Given the description of an element on the screen output the (x, y) to click on. 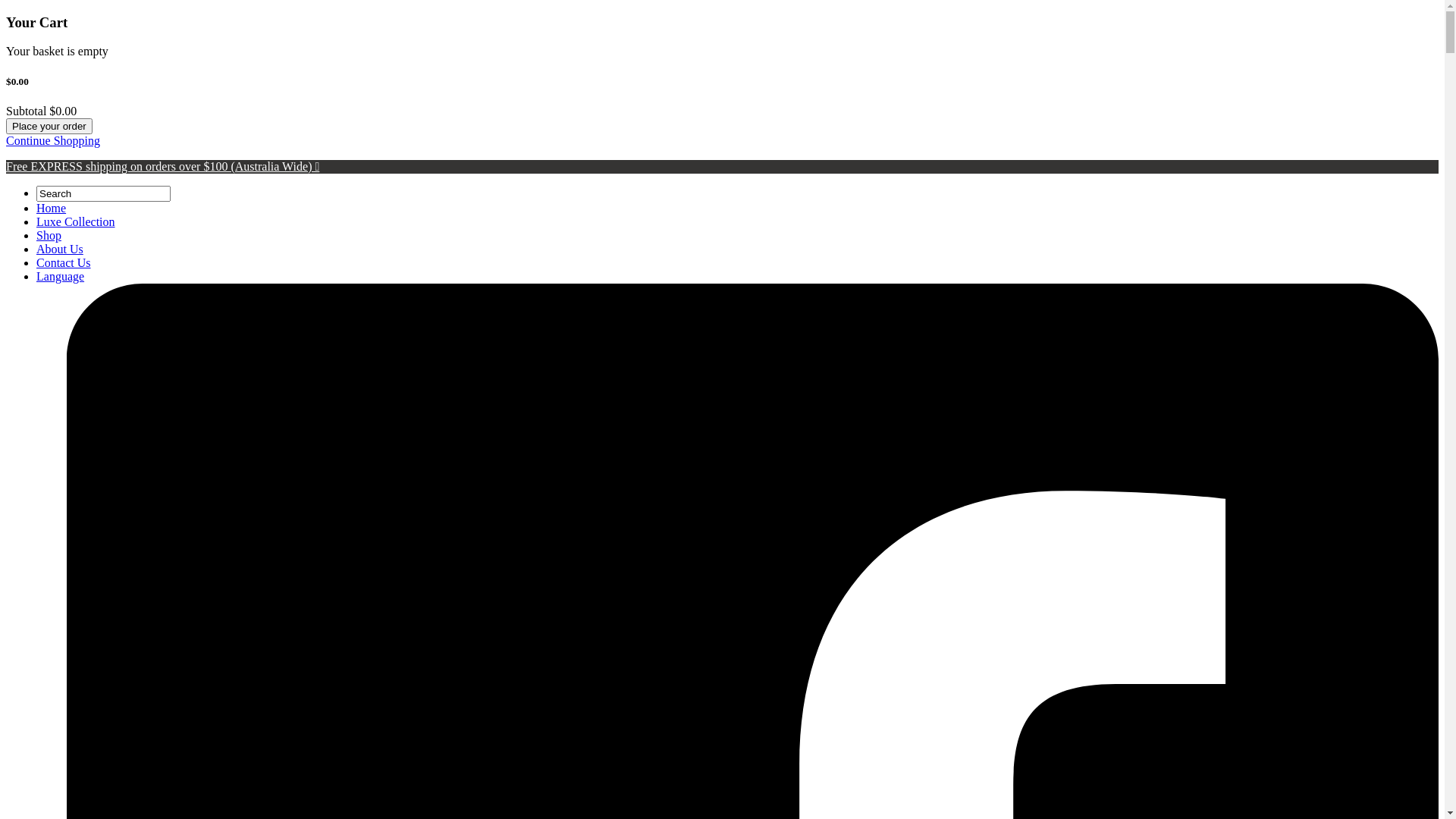
Place your order Element type: text (49, 126)
Continue Shopping Element type: text (53, 140)
Luxe Collection Element type: text (75, 221)
Shop Element type: text (48, 235)
About Us Element type: text (59, 248)
Language Element type: text (60, 275)
Contact Us Element type: text (63, 262)
Home Element type: text (50, 207)
